Given the description of an element on the screen output the (x, y) to click on. 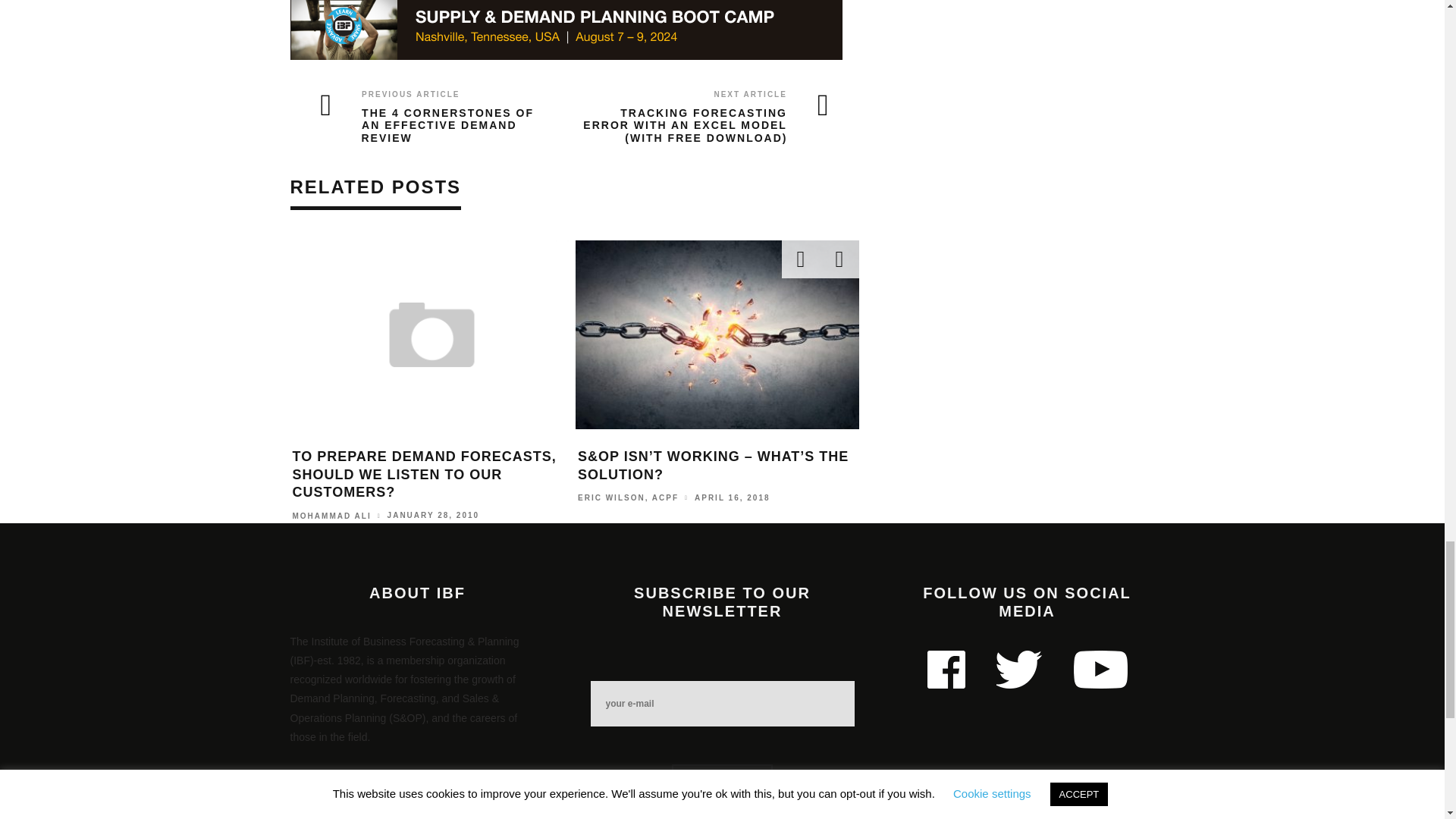
Subscribe (722, 778)
